Given the description of an element on the screen output the (x, y) to click on. 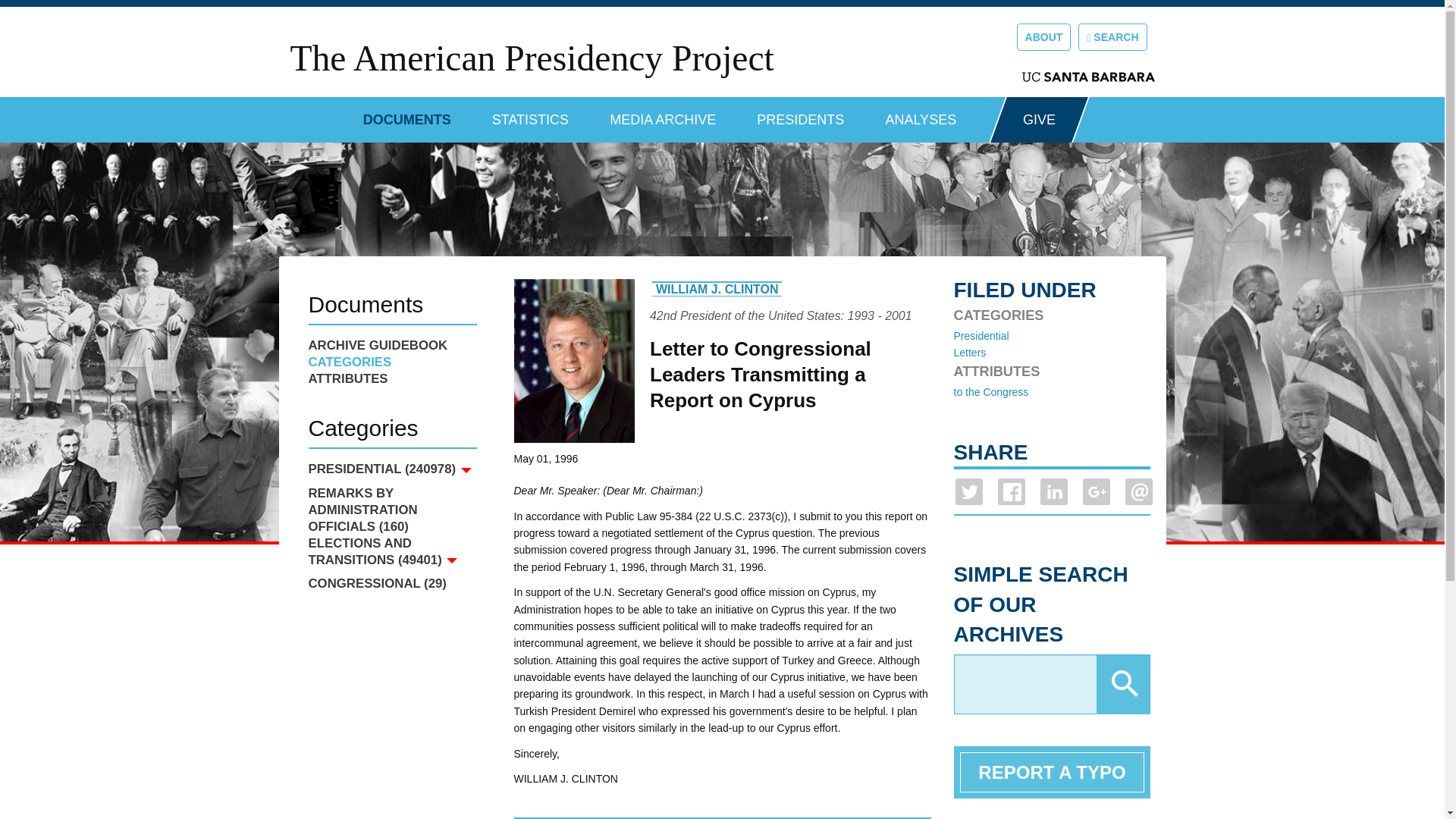
ABOUT (1043, 36)
PRESIDENTS (800, 113)
STATISTICS (530, 113)
CATEGORIES (391, 362)
MEDIA ARCHIVE (663, 113)
The American Presidency Project (531, 57)
ATTRIBUTES (391, 379)
GIVE (1038, 119)
ARCHIVE GUIDEBOOK (391, 345)
 SEARCH (1112, 36)
ANALYSES (920, 113)
DOCUMENTS (406, 113)
